Given the description of an element on the screen output the (x, y) to click on. 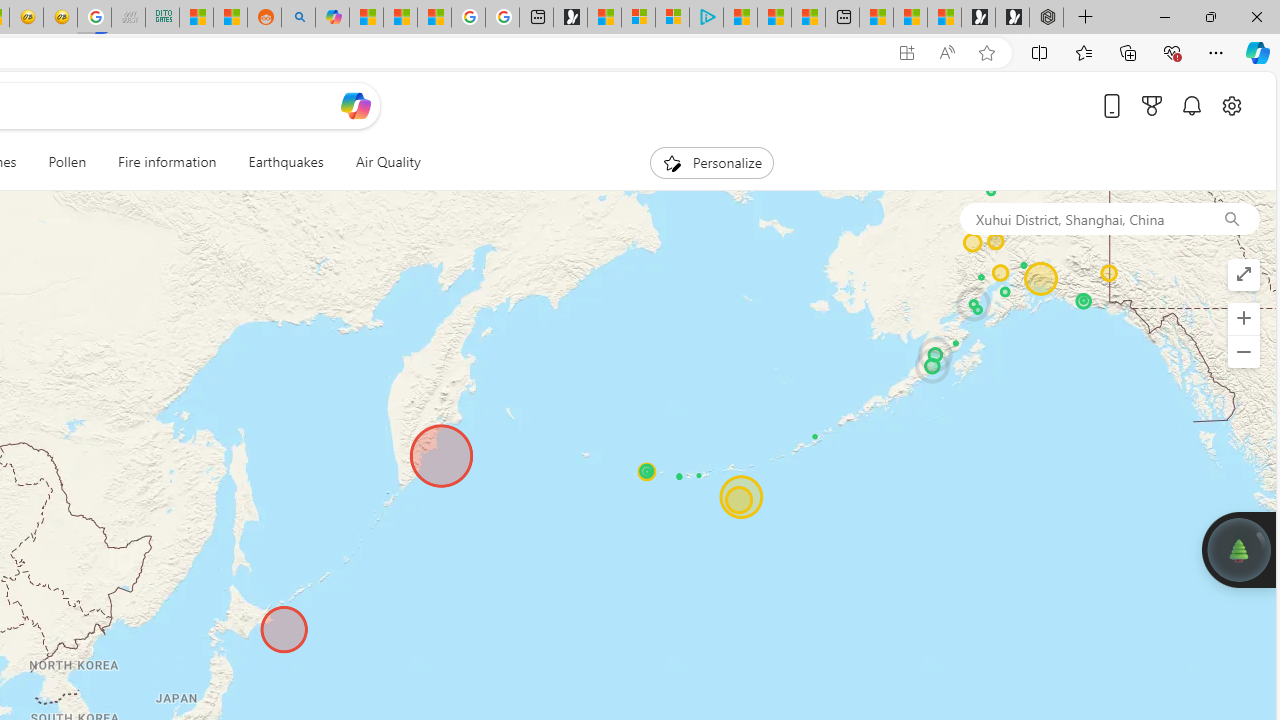
Open Copilot (355, 105)
Notifications (1192, 105)
Open settings (1231, 105)
Zoom in (1243, 318)
Copilot (Ctrl+Shift+.) (1258, 52)
Enter full screen mode (1243, 274)
MSNBC - MSN (196, 17)
Utah sues federal government - Search (297, 17)
DITOGAMES AG Imprint (162, 17)
Fire information (167, 162)
New Tab (1085, 17)
